Given the description of an element on the screen output the (x, y) to click on. 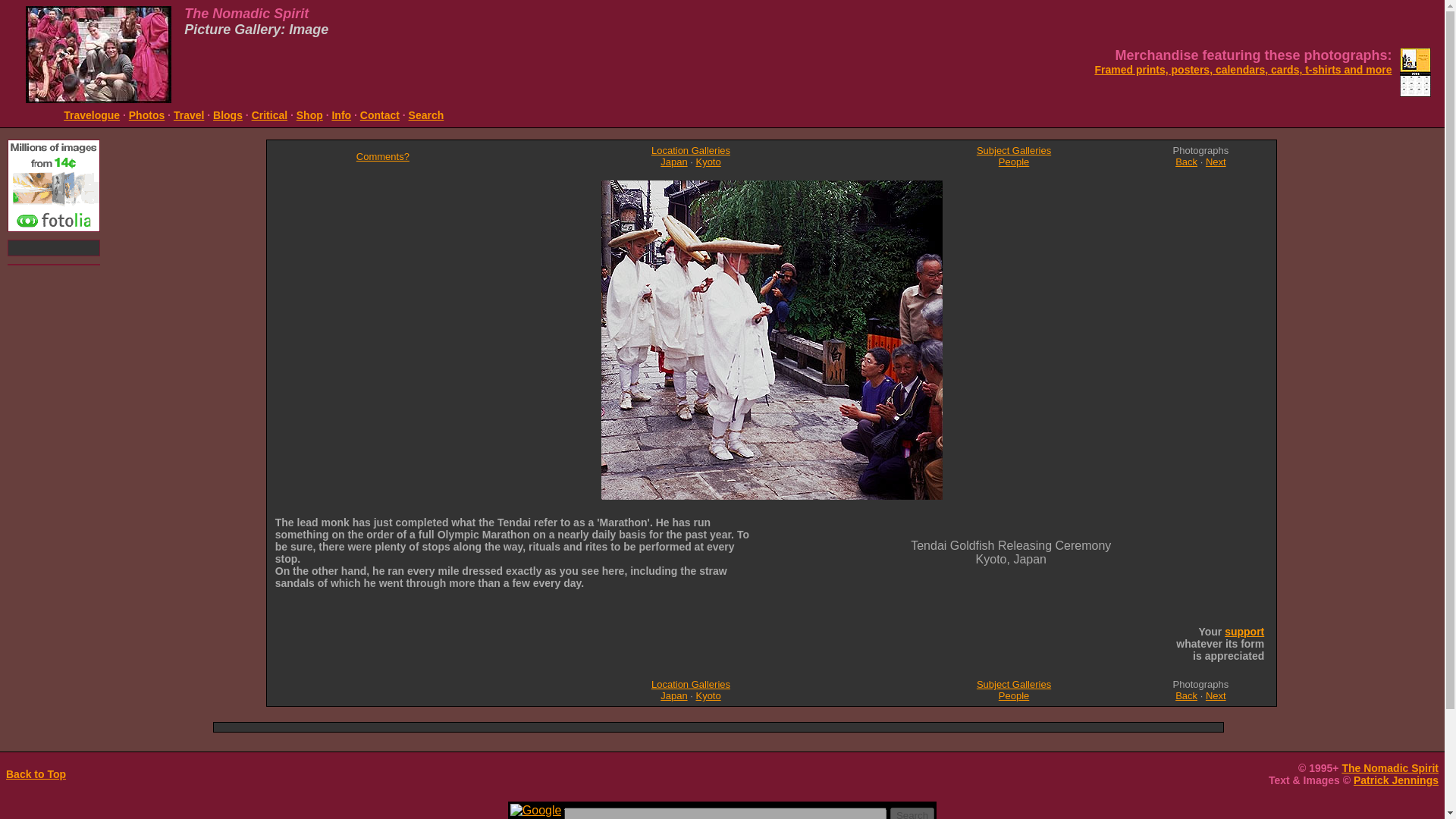
Contact (378, 114)
Back (1185, 695)
Location Galleries (690, 150)
Blogs (227, 114)
Comments? (382, 155)
Kyoto (707, 161)
Next (1215, 161)
Subject Galleries (1013, 684)
Search (426, 114)
Shop (310, 114)
Japan (674, 695)
Next (1215, 695)
People (1013, 695)
Subject Galleries (1013, 150)
Kyoto (707, 695)
